Given the description of an element on the screen output the (x, y) to click on. 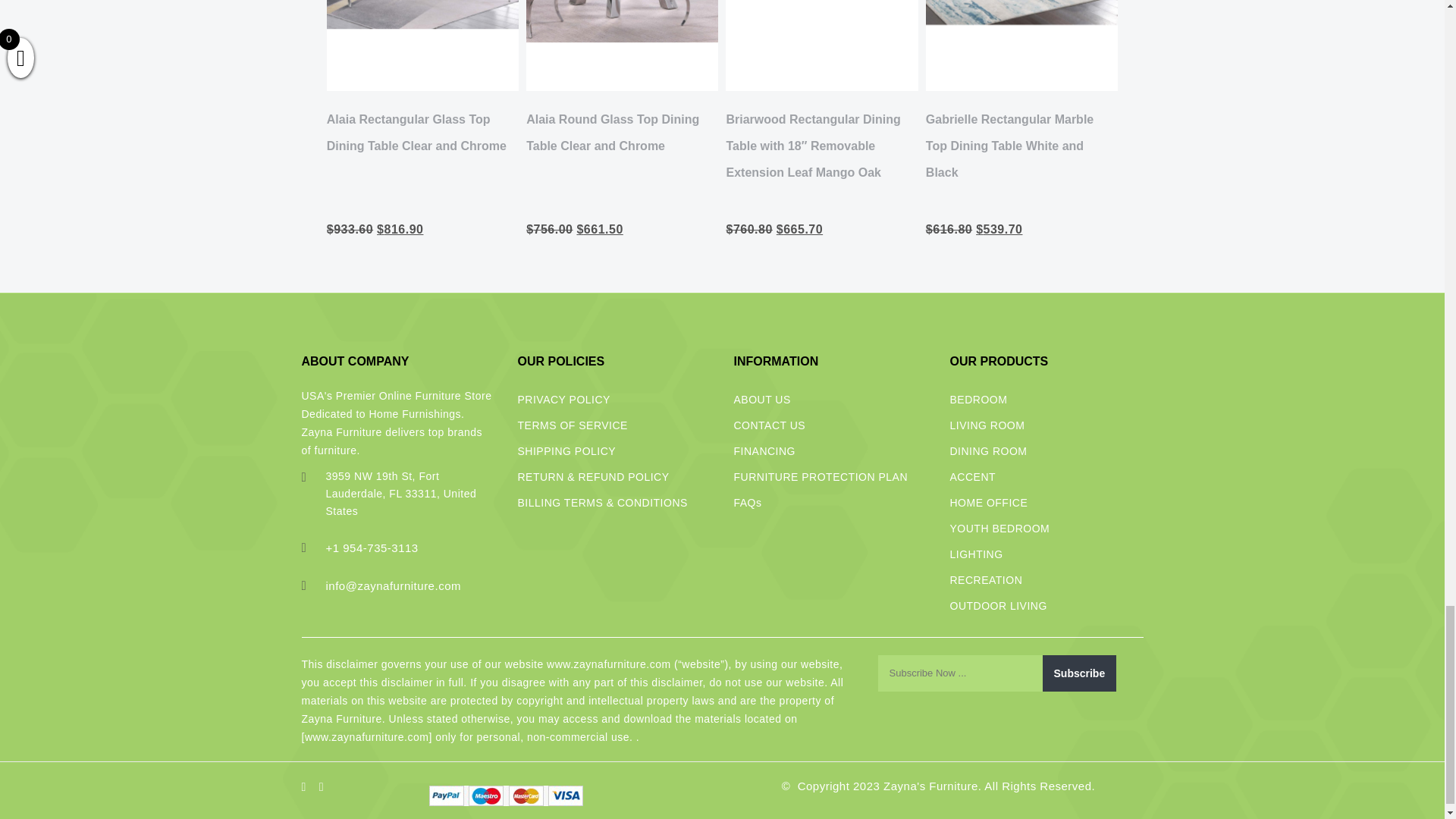
Subscribe (1079, 673)
